Given the description of an element on the screen output the (x, y) to click on. 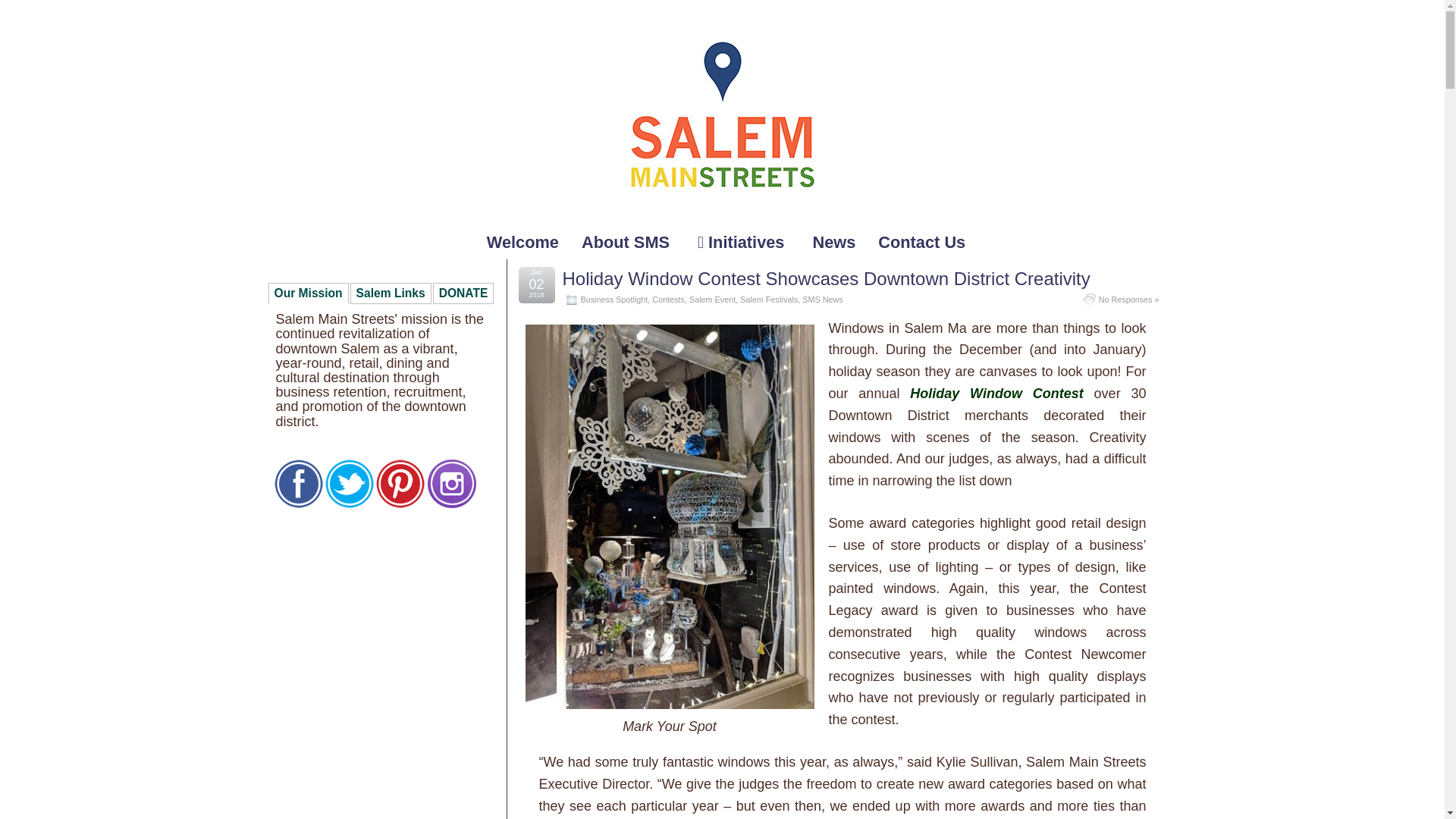
Salem Event (711, 298)
Salem Festivals (768, 298)
Business Spotlight (613, 298)
Contact Us (921, 243)
Contests (668, 298)
About SMS (627, 243)
Welcome (523, 243)
Initiatives (742, 243)
SMS News (822, 298)
News (833, 243)
